Given the description of an element on the screen output the (x, y) to click on. 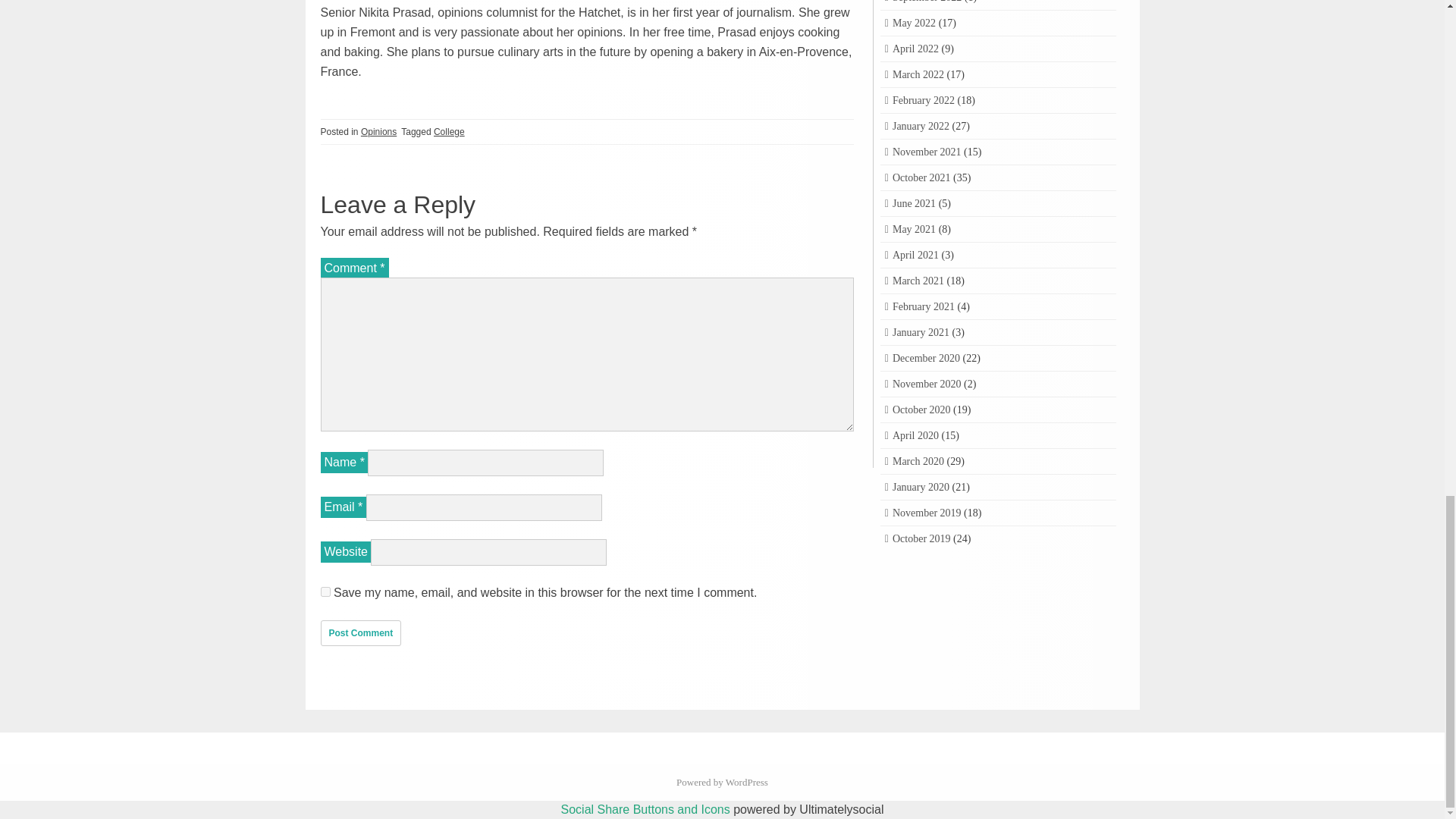
yes (325, 592)
Post Comment (360, 632)
Post Comment (360, 632)
Opinions (378, 131)
College (448, 131)
